Given the description of an element on the screen output the (x, y) to click on. 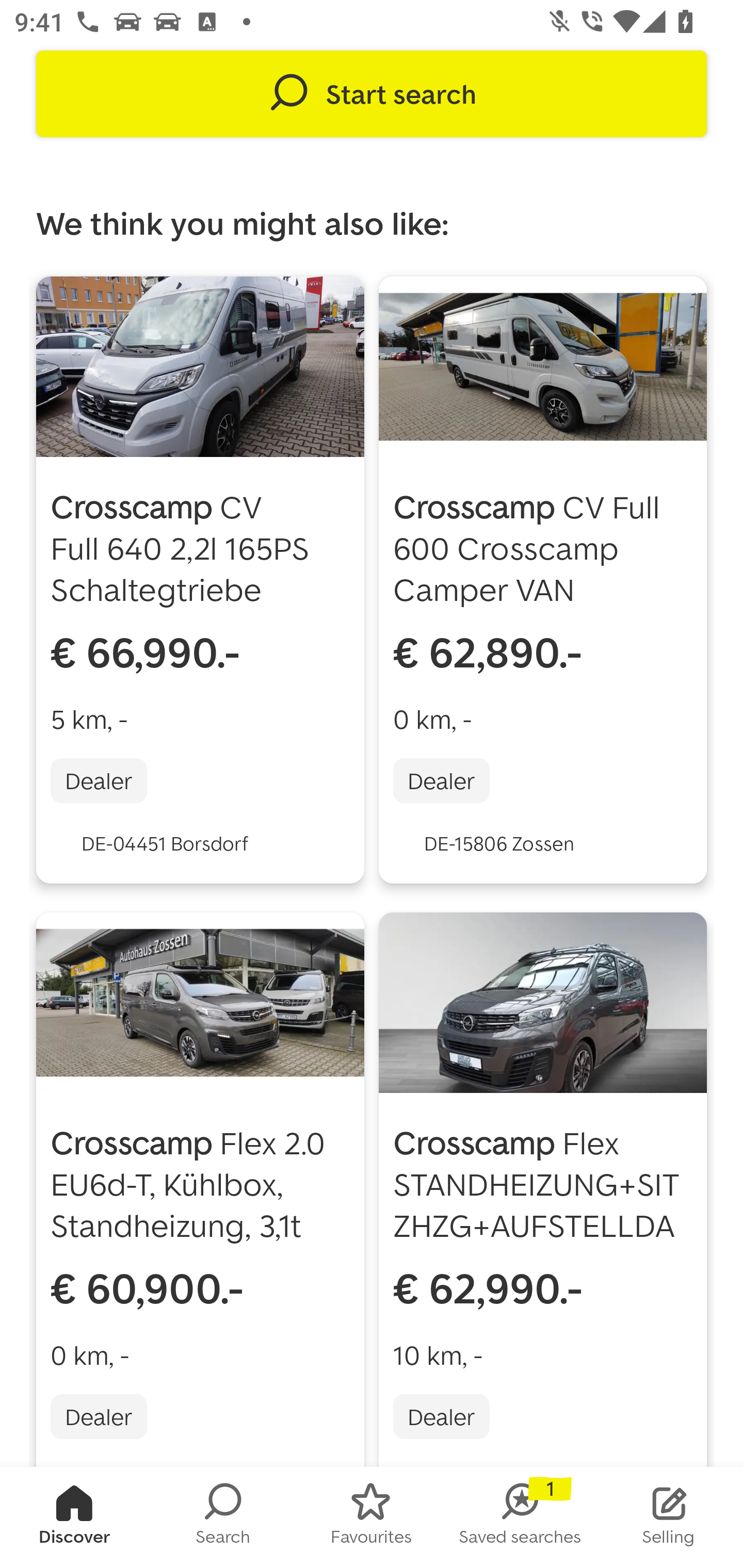
Start search (371, 93)
HOMESCREEN Discover (74, 1517)
SEARCH Search (222, 1517)
FAVORITES Favourites (371, 1517)
SAVED_SEARCHES Saved searches 1 (519, 1517)
STOCK_LIST Selling (668, 1517)
